Given the description of an element on the screen output the (x, y) to click on. 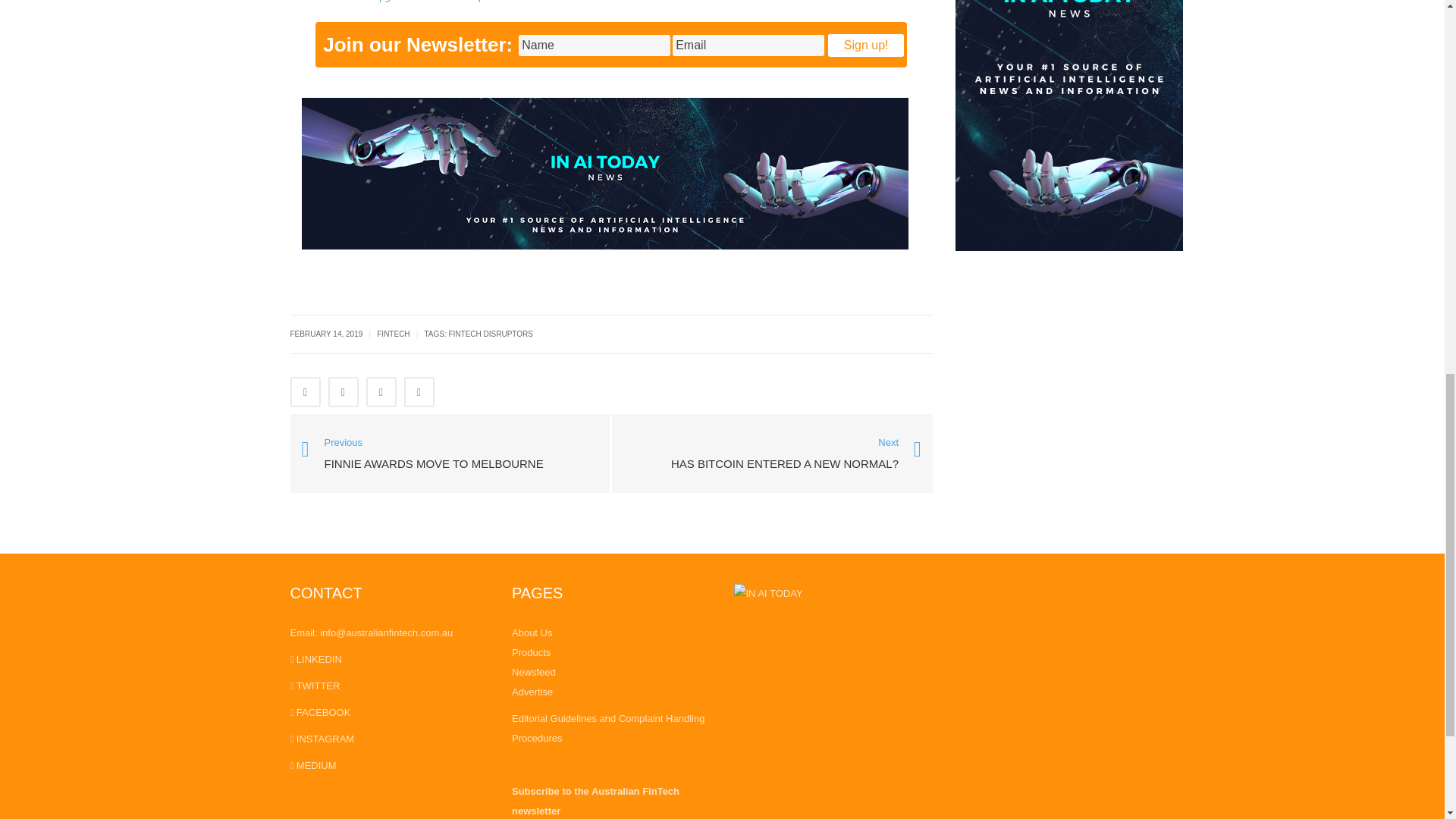
FINTECH (393, 334)
FINTECH DISRUPTORS (490, 334)
Sign up! (866, 45)
Email this (418, 391)
Share on Twitter (342, 391)
Has Bitcoin entered a new normal? (784, 455)
Share on Facebook (304, 391)
Sign up! (866, 45)
Share on LinkedIn (380, 391)
Finnie Awards move to Melbourne (449, 452)
